Given the description of an element on the screen output the (x, y) to click on. 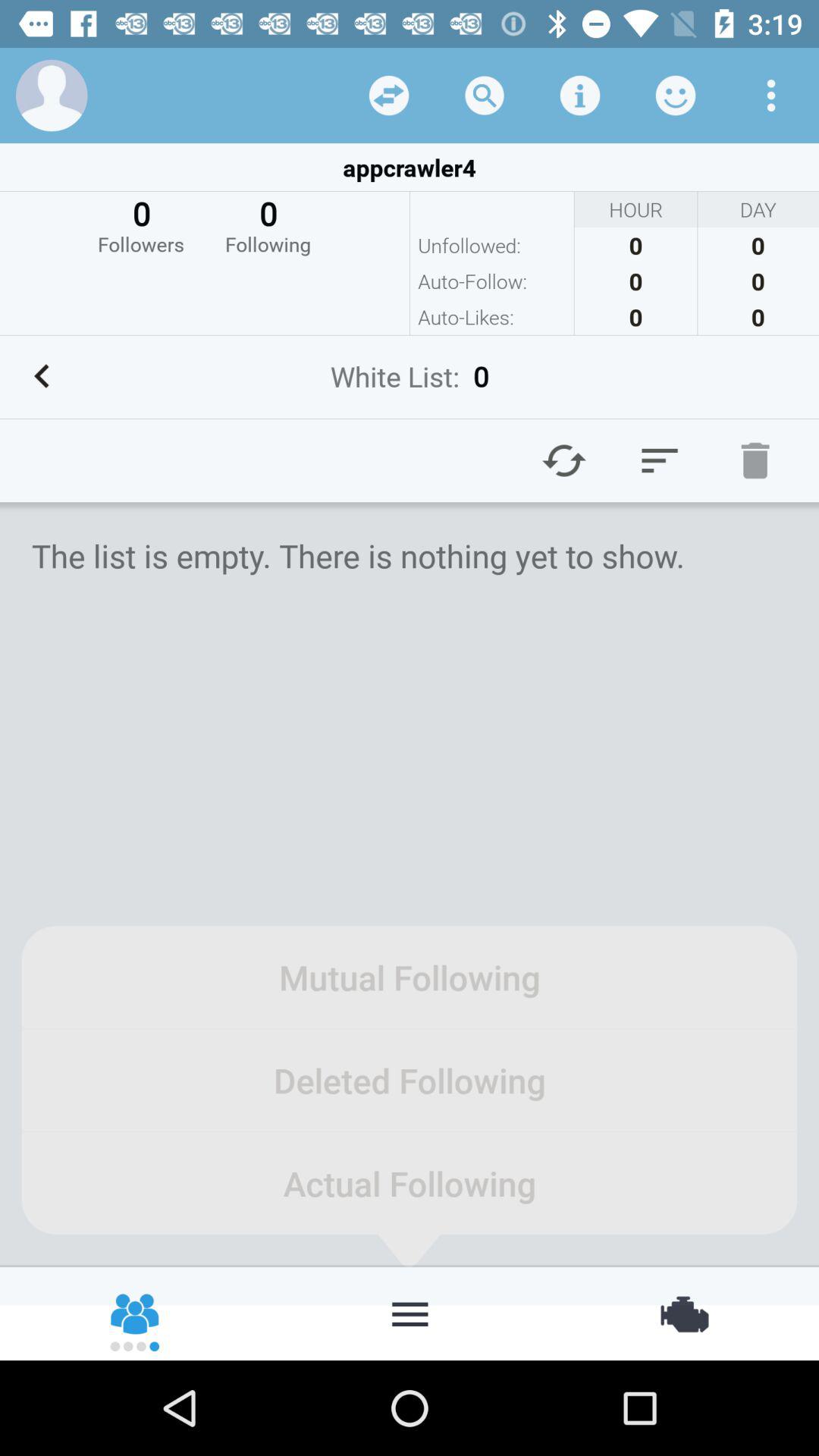
click the details option (579, 95)
